Given the description of an element on the screen output the (x, y) to click on. 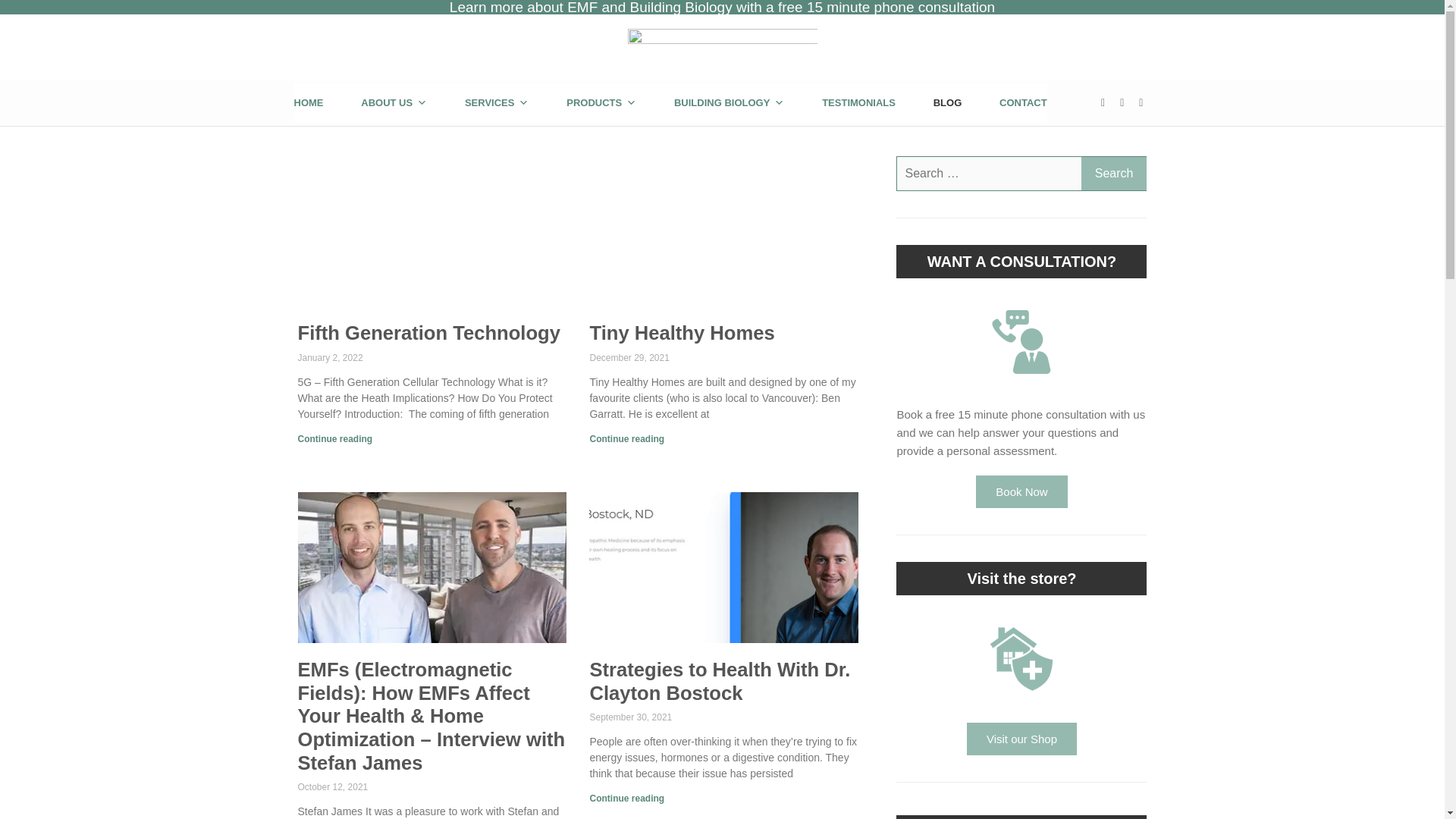
PRODUCTS (601, 103)
Search (1114, 173)
BUILDING BIOLOGY (729, 103)
ABOUT US (393, 103)
SERVICES (496, 103)
Search (1114, 173)
